Given the description of an element on the screen output the (x, y) to click on. 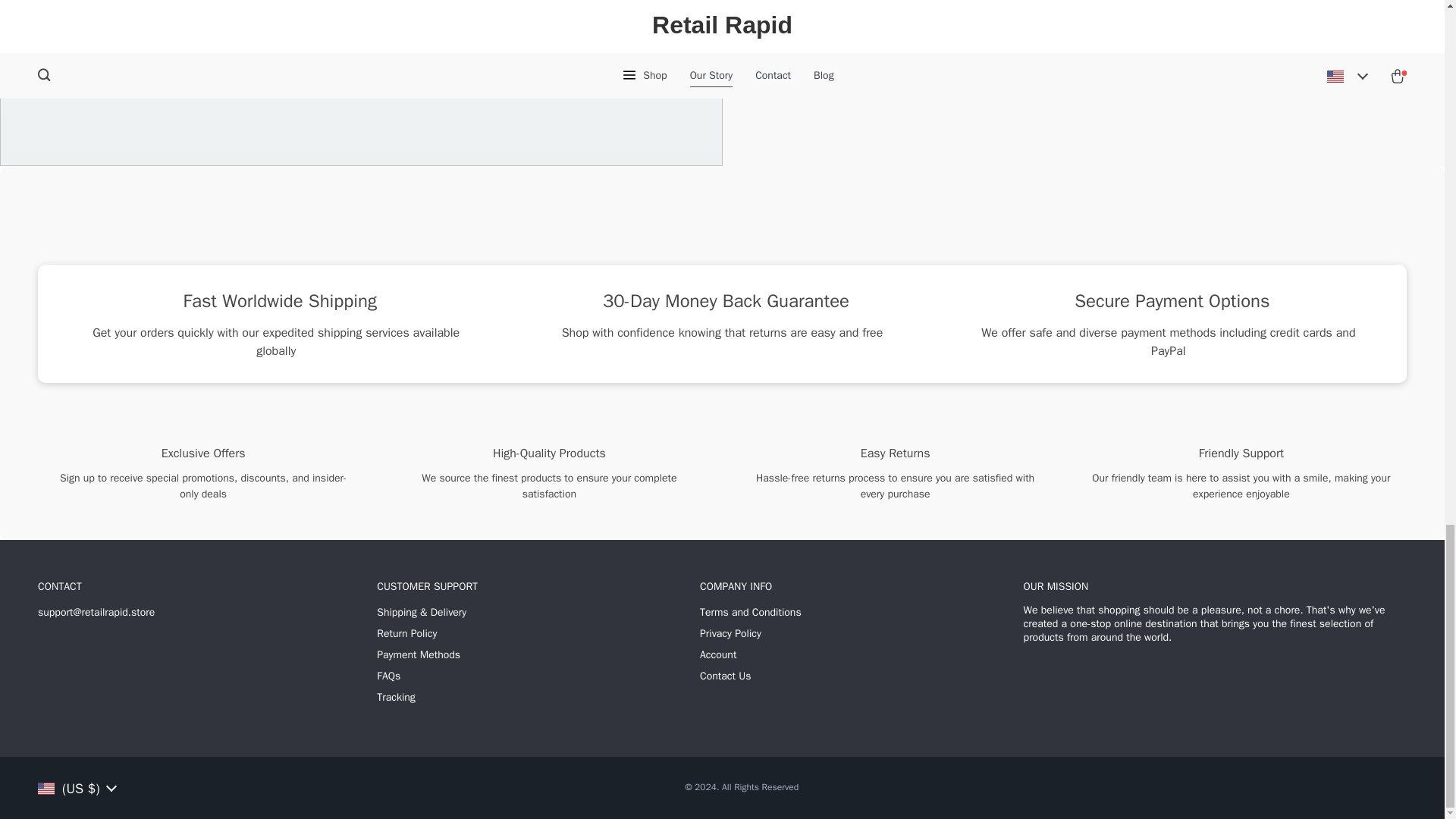
FAQs (388, 676)
Terms and Conditions (751, 612)
Contact Us (725, 676)
Tracking (395, 697)
Account (718, 654)
Payment Methods (418, 654)
Return Policy (406, 633)
Privacy Policy (730, 633)
